Given the description of an element on the screen output the (x, y) to click on. 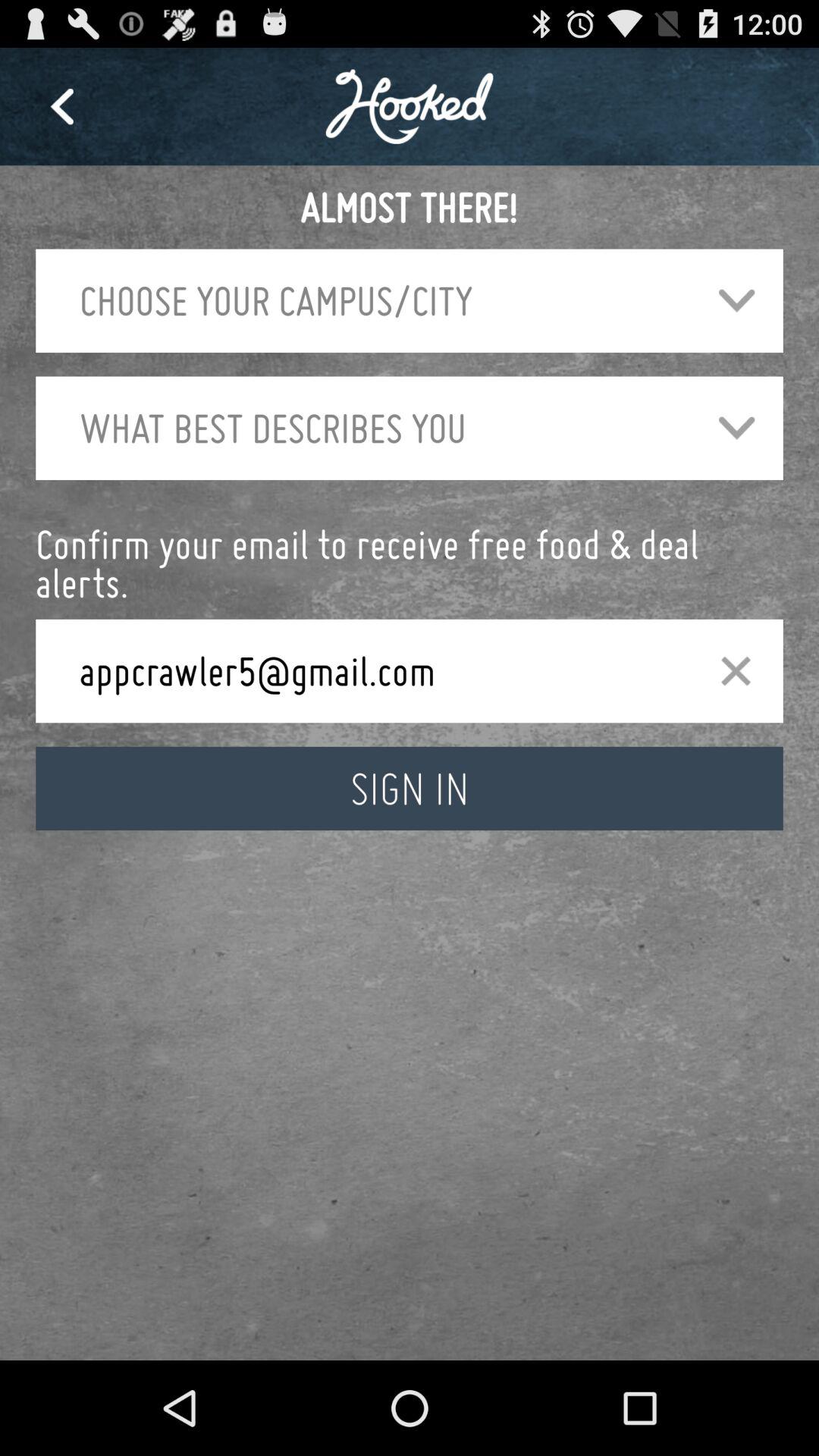
open item at the top left corner (61, 106)
